Given the description of an element on the screen output the (x, y) to click on. 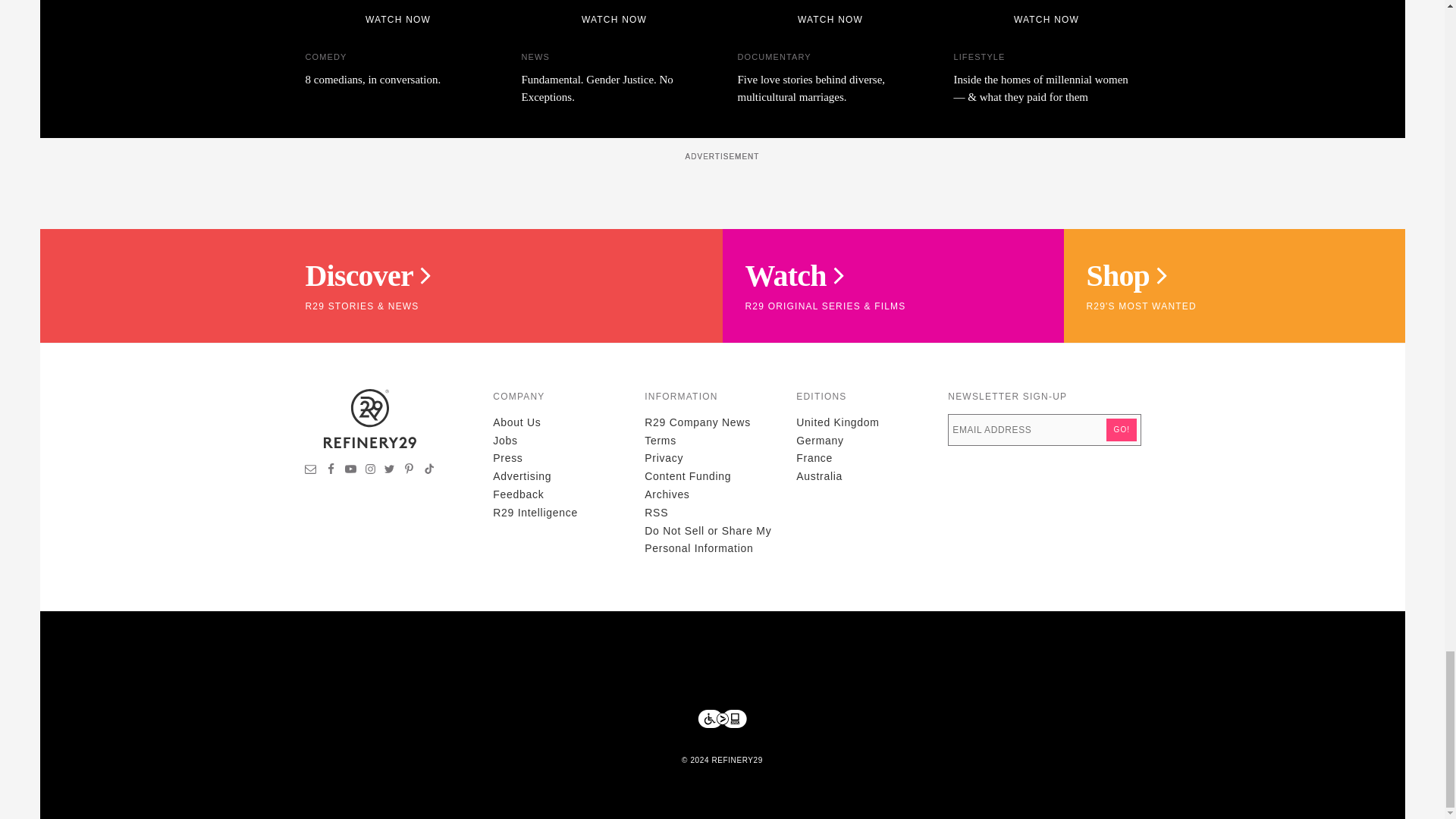
Visit Refinery29 on YouTube (350, 470)
Visit Refinery29 on TikTok (428, 470)
Sign up for newsletters (310, 470)
